Given the description of an element on the screen output the (x, y) to click on. 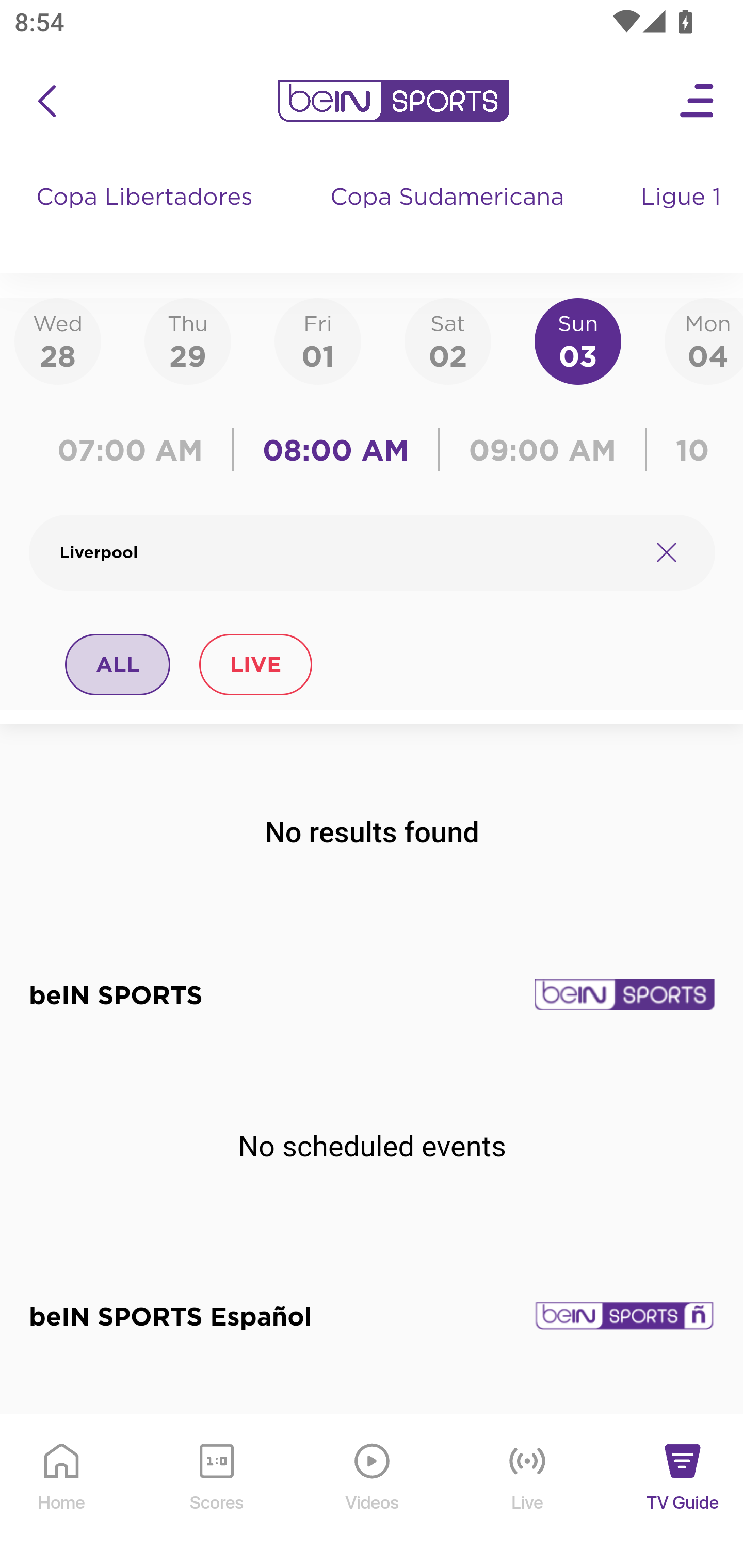
en-us?platform=mobile_android bein logo (392, 101)
icon back (46, 101)
Open Menu Icon (697, 101)
Copa Libertadores (146, 216)
Copa Sudamericana (448, 216)
Ligue 1 (682, 216)
Wed28 (58, 340)
Thu29 (187, 340)
Fri01 (318, 340)
Sat02 (447, 340)
Sun03 (578, 340)
Mon04 (703, 340)
07:00 AM (135, 449)
08:00 AM (336, 449)
09:00 AM (542, 449)
Liverpool (346, 552)
ALL (118, 663)
LIVE (255, 663)
Home Home Icon Home (61, 1491)
Scores Scores Icon Scores (216, 1491)
Videos Videos Icon Videos (372, 1491)
TV Guide TV Guide Icon TV Guide (682, 1491)
